Given the description of an element on the screen output the (x, y) to click on. 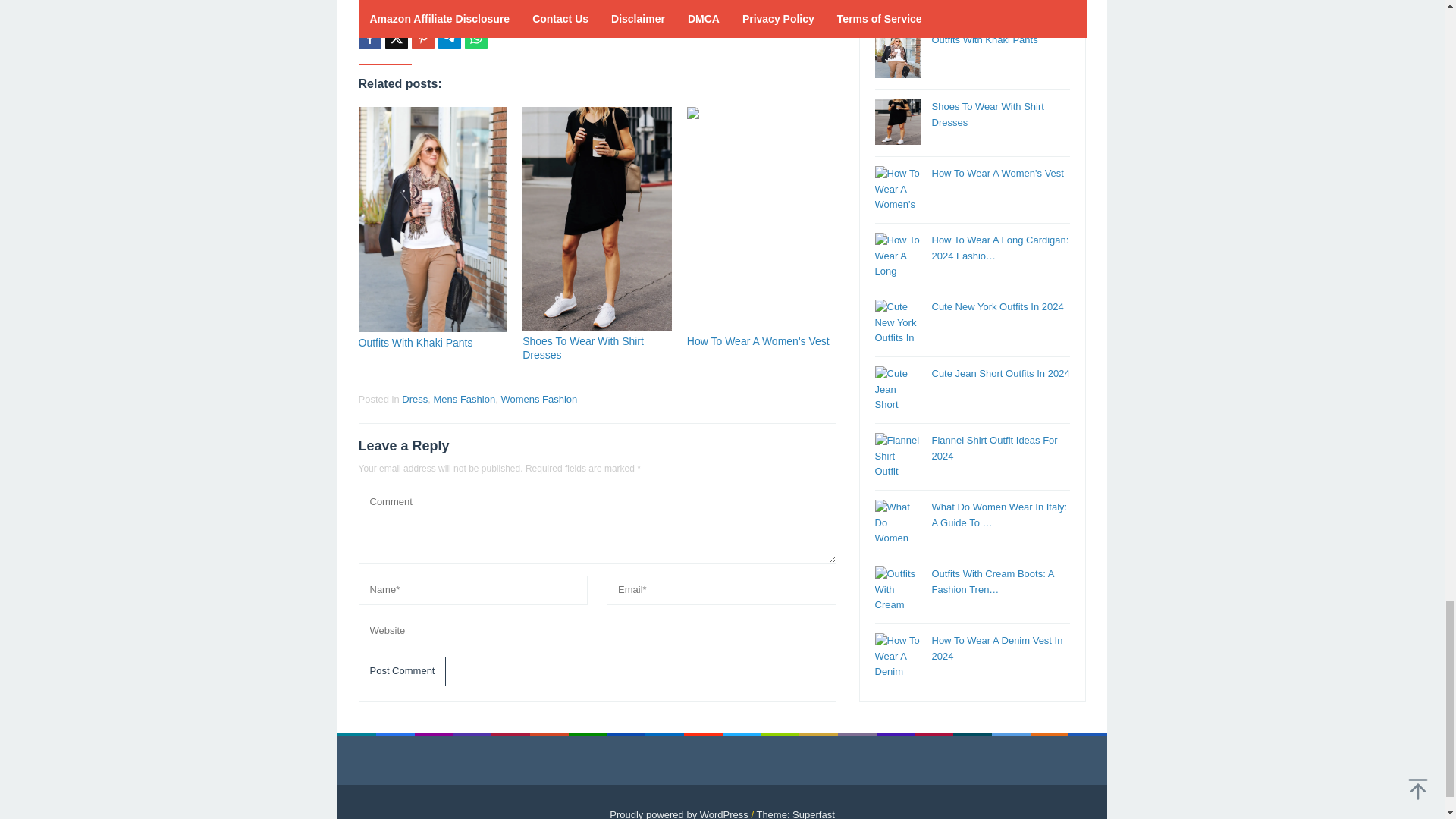
Post Comment (401, 671)
